Given the description of an element on the screen output the (x, y) to click on. 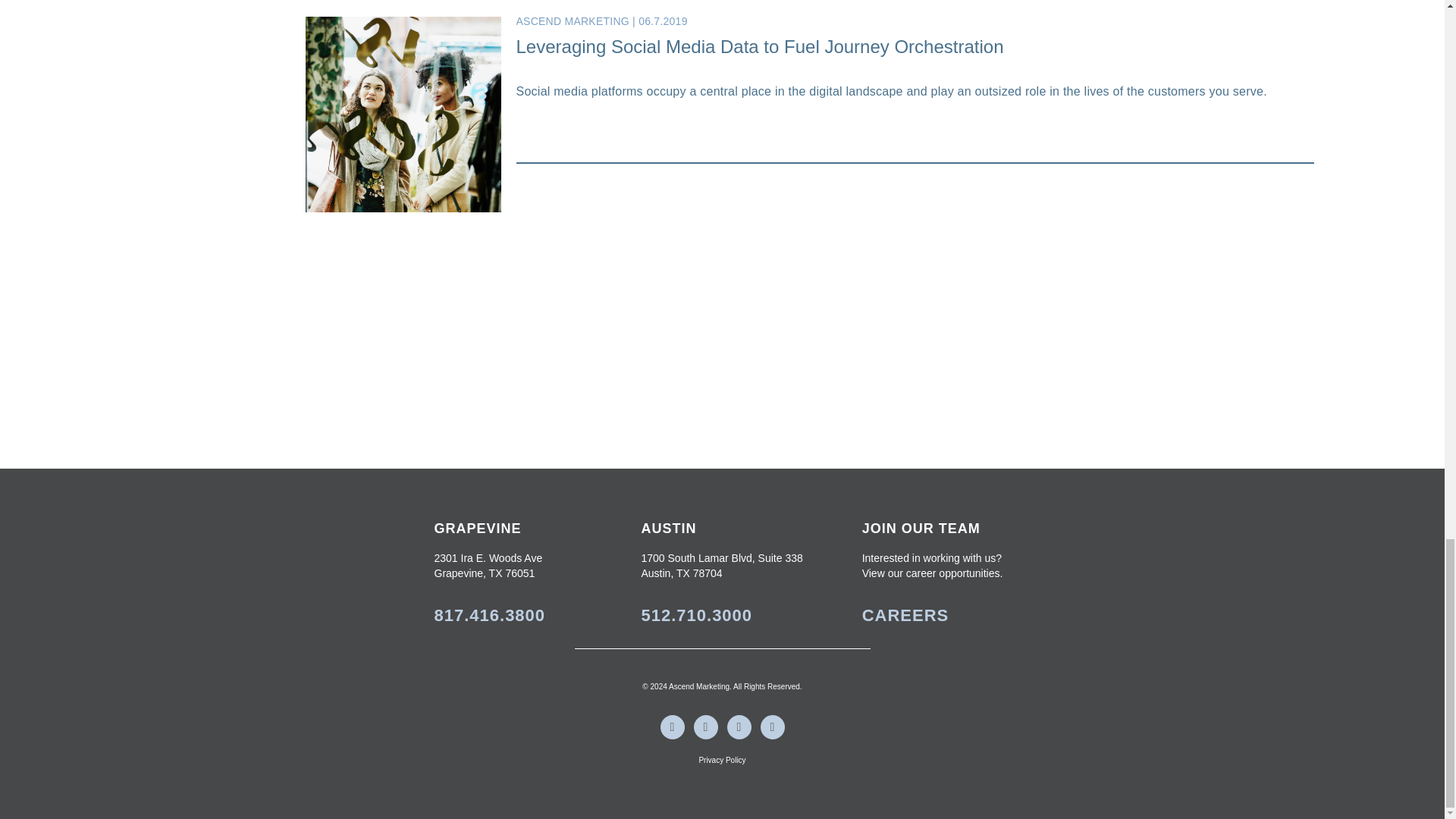
Privacy Policy (721, 759)
JOIN OUR TEAM (920, 528)
CAREERS (905, 615)
Leveraging Social Media Data to Fuel Journey Orchestration (759, 46)
